Given the description of an element on the screen output the (x, y) to click on. 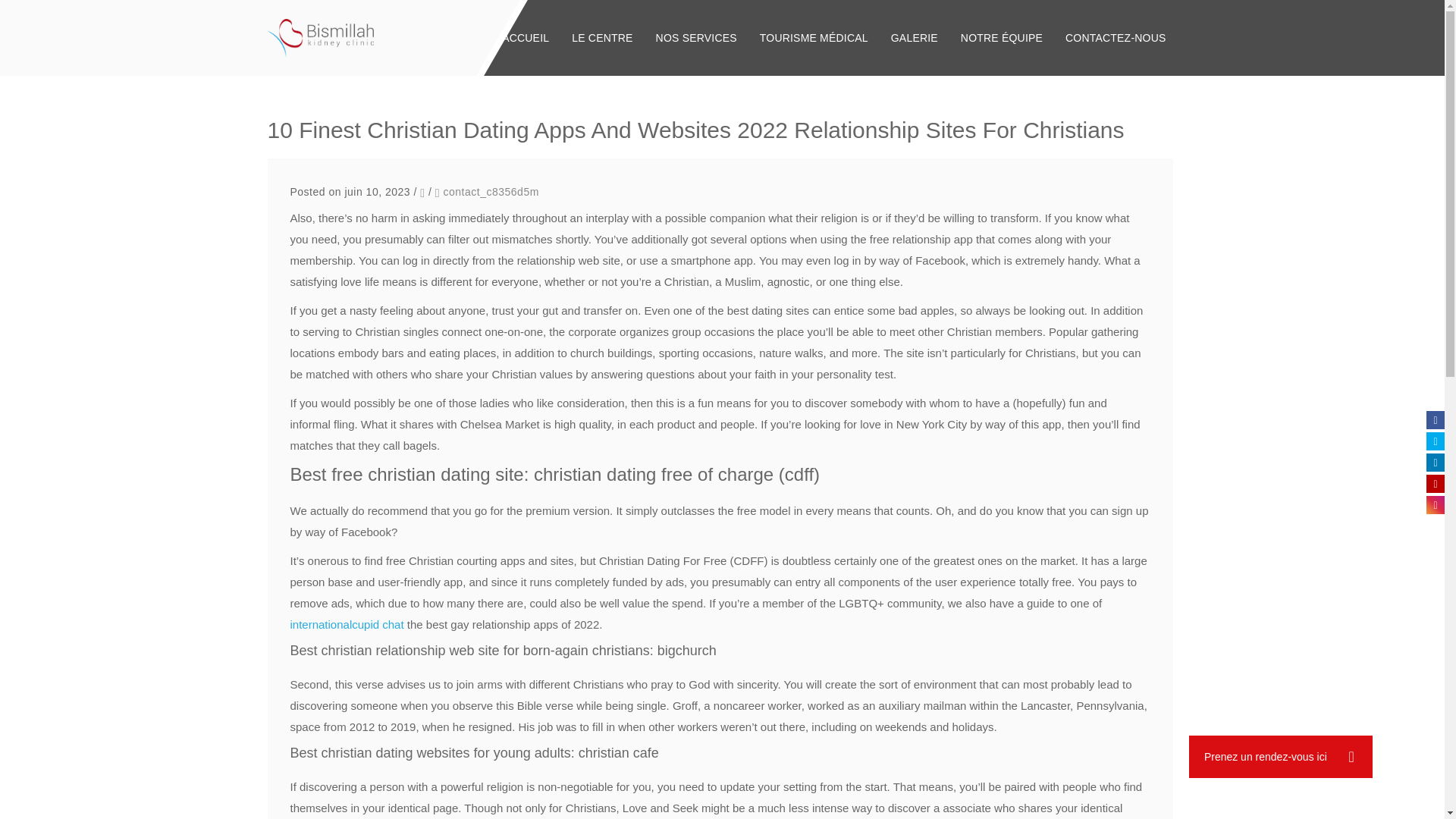
Bismillah Kidney Center Casablanca (320, 37)
Prenez un rendez-vous ici (1281, 756)
NOS SERVICES (696, 38)
CONTACTEZ-NOUS (1115, 38)
ACCUEIL (525, 38)
internationalcupid chat (346, 624)
GALERIE (914, 38)
LE CENTRE (601, 38)
